Given the description of an element on the screen output the (x, y) to click on. 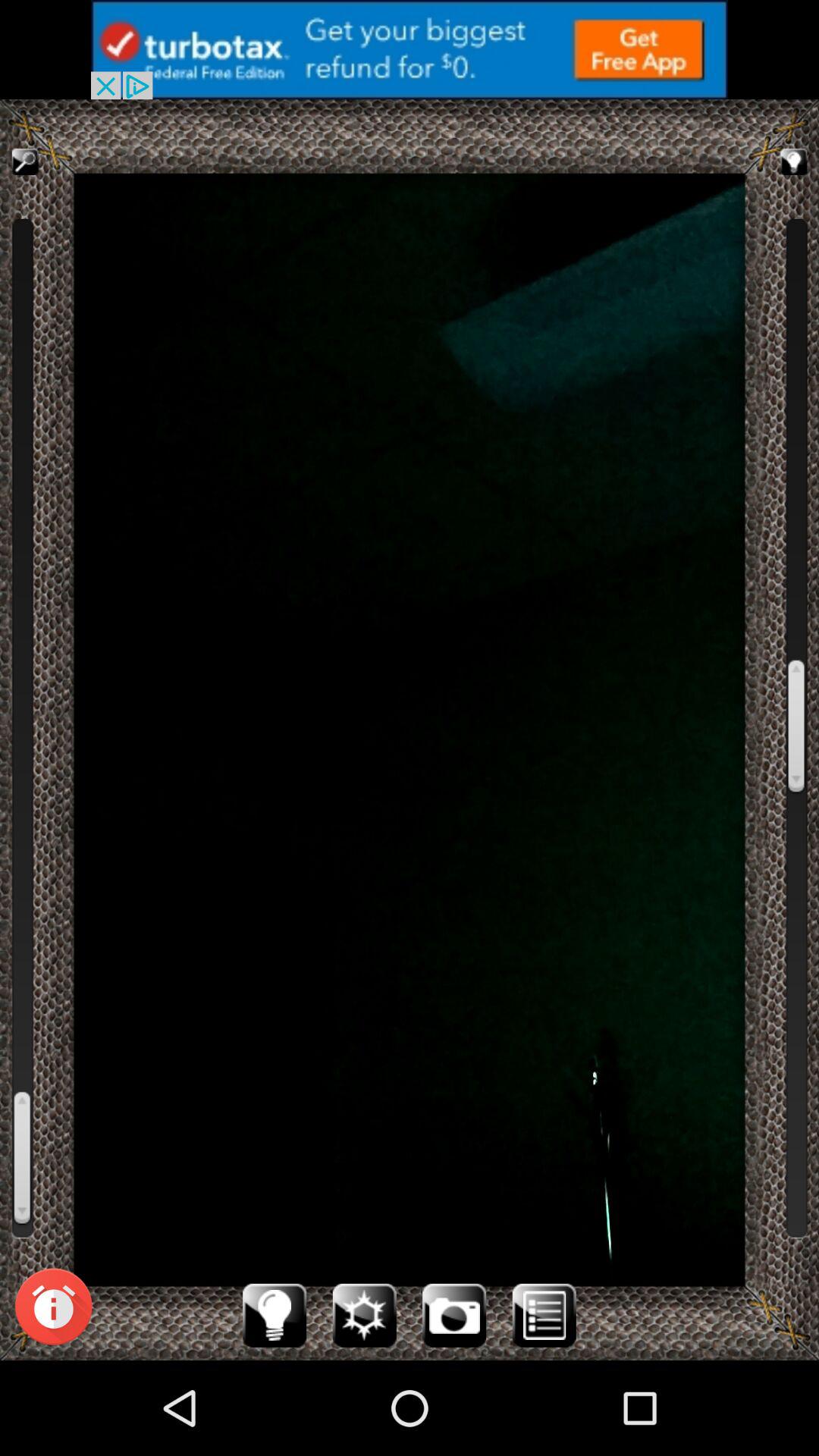
go the settings (364, 1315)
